Given the description of an element on the screen output the (x, y) to click on. 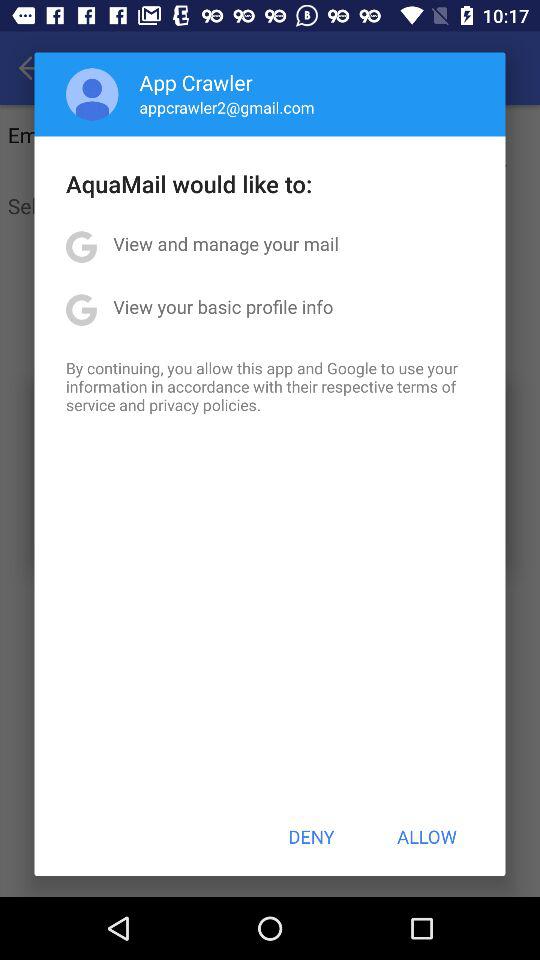
press item below the aquamail would like item (225, 243)
